Given the description of an element on the screen output the (x, y) to click on. 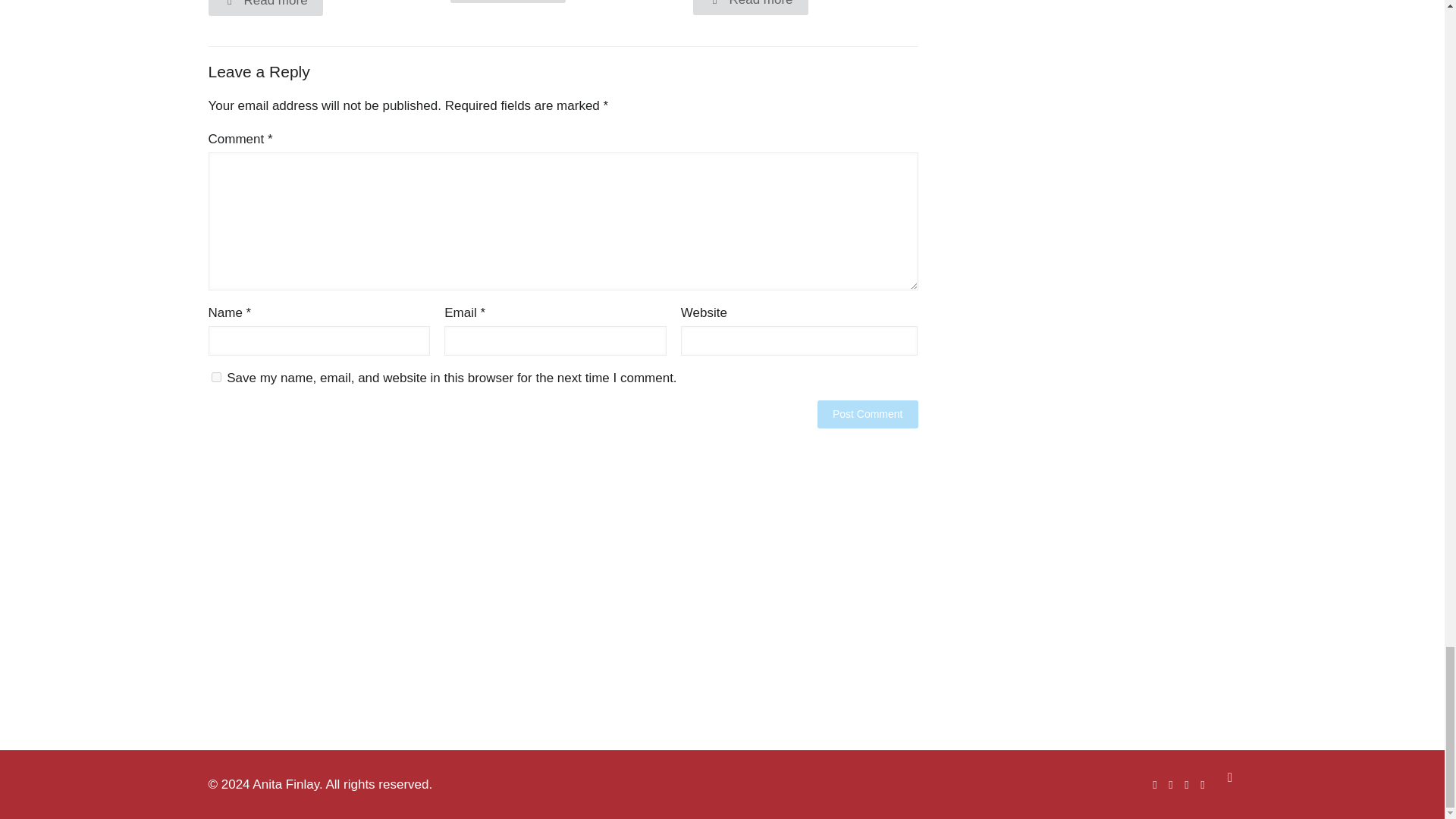
yes (216, 377)
YouTube (1186, 784)
LinkedIn (1202, 784)
Facebook (1155, 784)
Post Comment (867, 414)
